Given the description of an element on the screen output the (x, y) to click on. 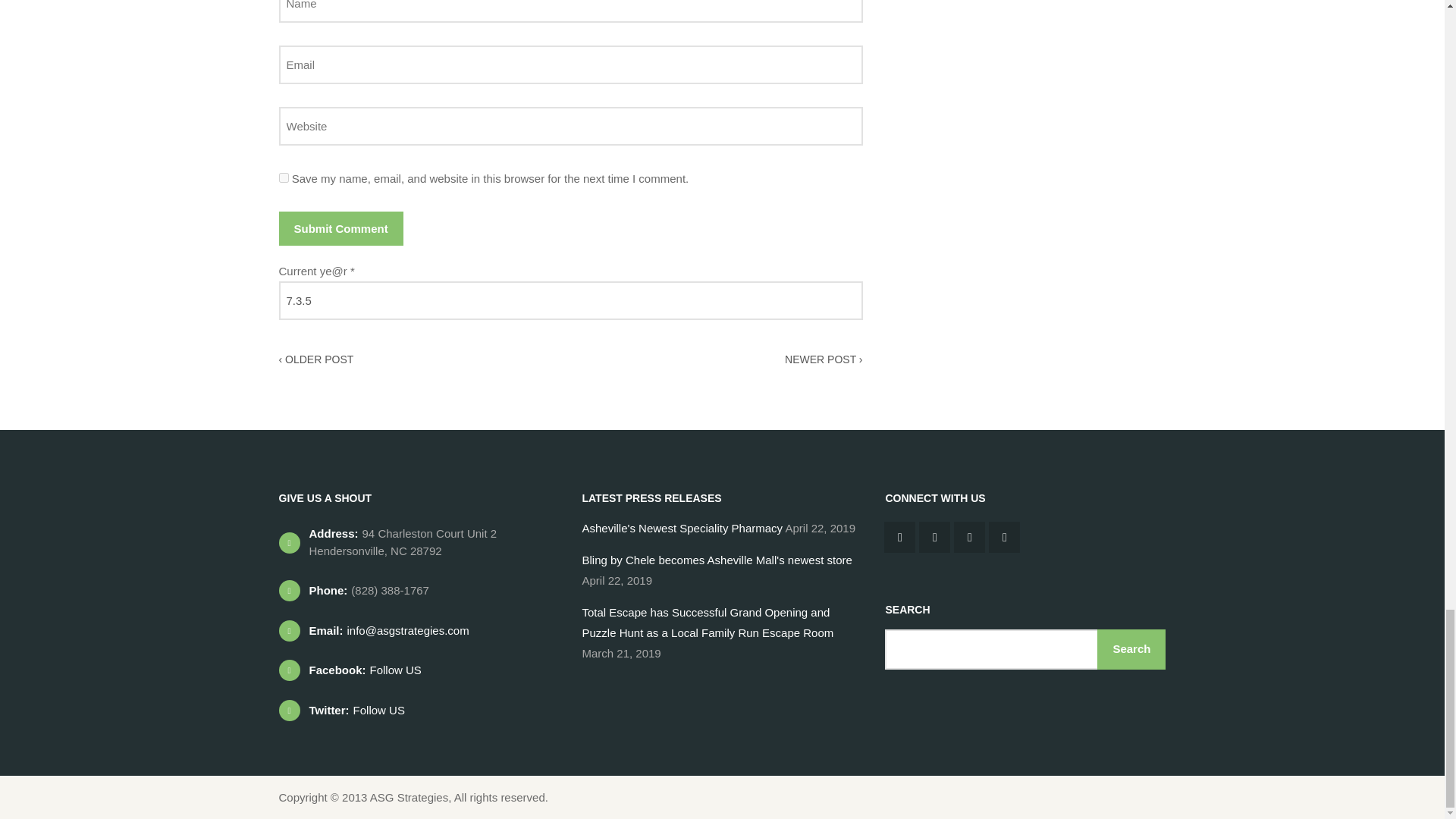
Search (1131, 649)
yes (283, 177)
Submit Comment (341, 228)
7.3.5 (571, 300)
